Given the description of an element on the screen output the (x, y) to click on. 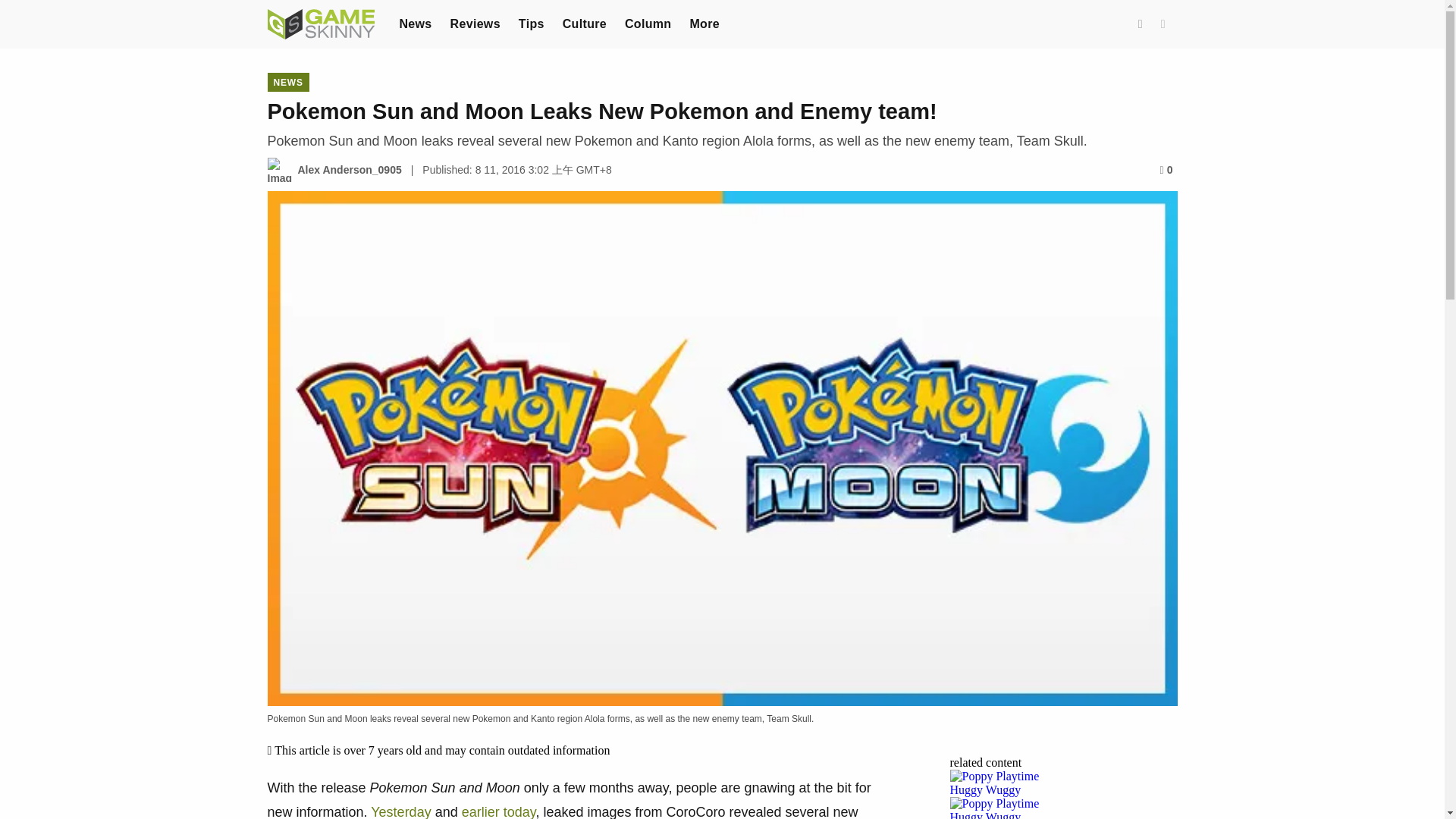
Tips (531, 23)
News (414, 23)
Search (1140, 23)
Culture (584, 23)
Dark Mode (1163, 23)
Column (647, 23)
Reviews (474, 23)
